Given the description of an element on the screen output the (x, y) to click on. 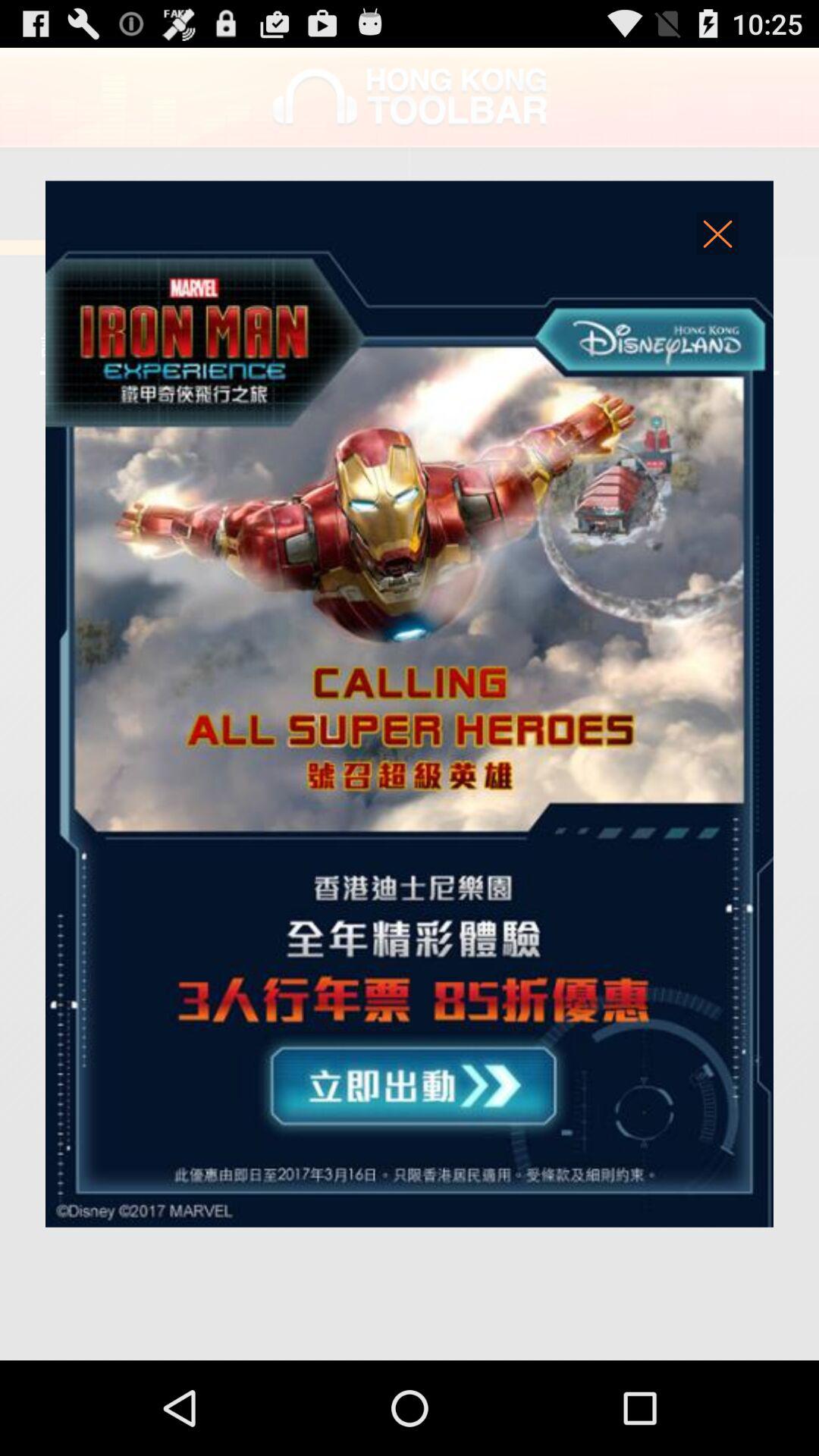
review (409, 703)
